Given the description of an element on the screen output the (x, y) to click on. 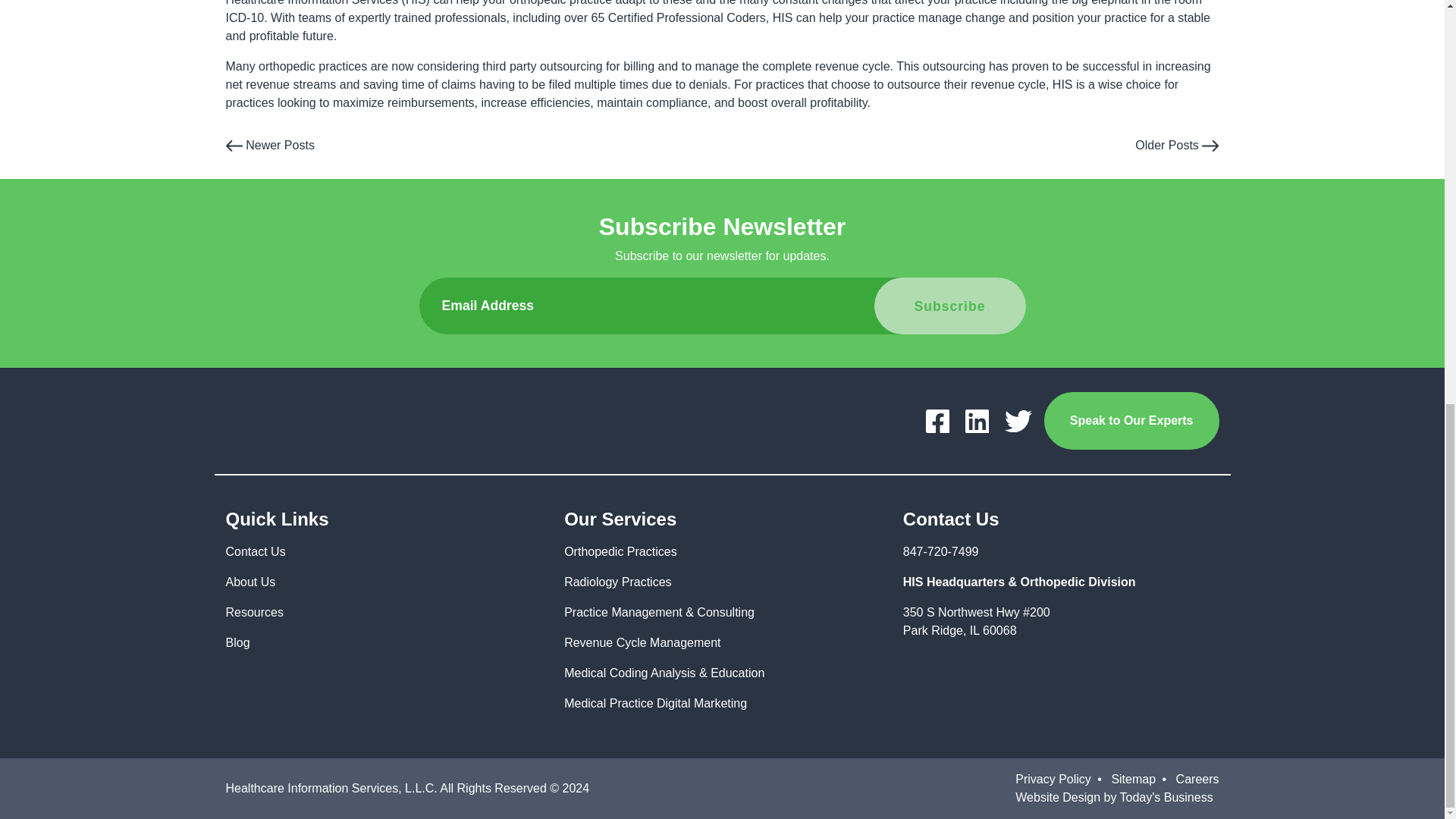
Subscribe (949, 305)
